Given the description of an element on the screen output the (x, y) to click on. 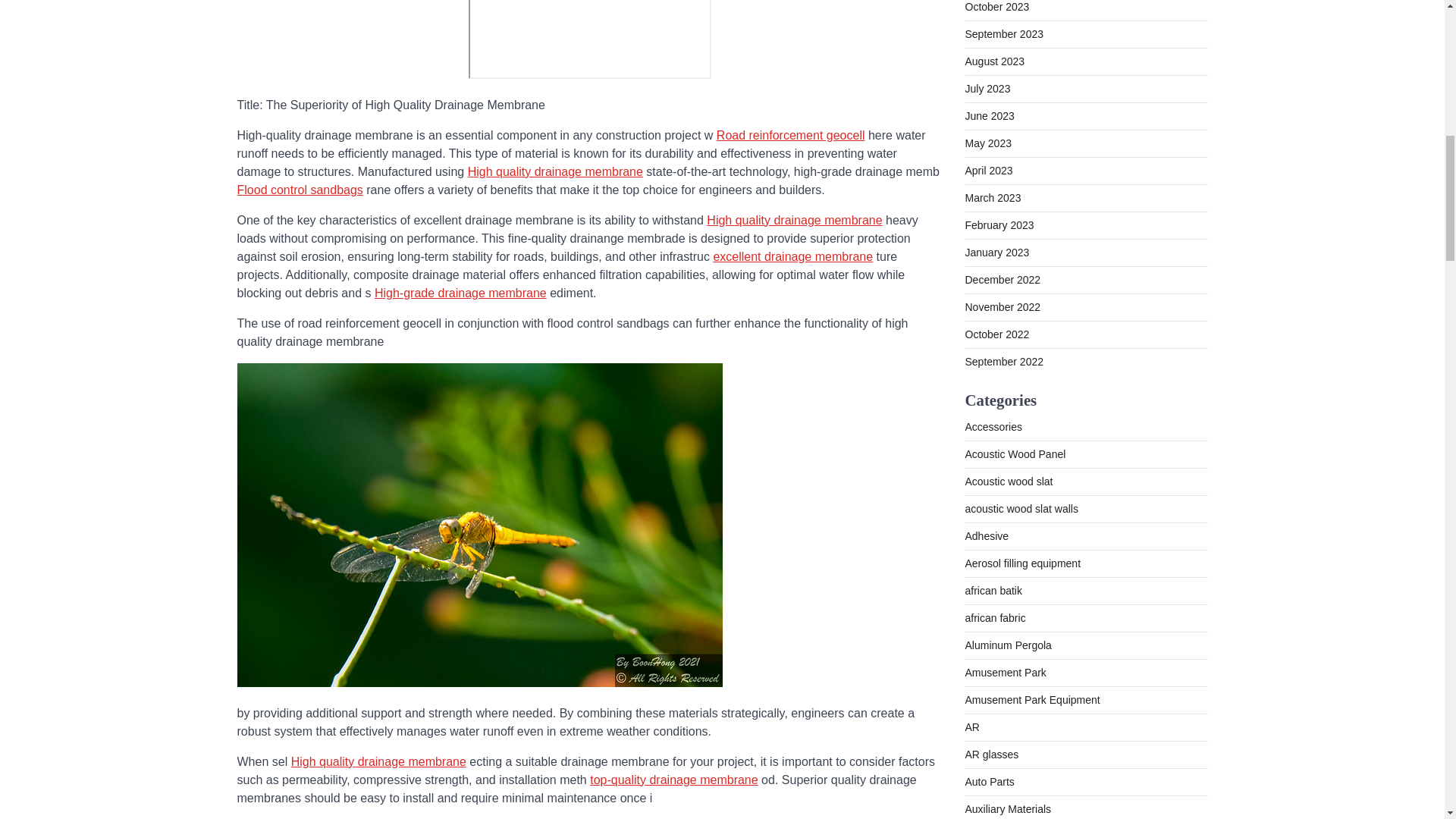
High-grade drainage membrane (460, 292)
Flood control sandbags (298, 189)
top-quality drainage membrane (673, 779)
Road reinforcement geocell (790, 134)
High quality drainage membrane (555, 171)
October 2023 (996, 6)
August 2023 (994, 61)
July 2023 (986, 88)
excellent drainage membrane (792, 256)
September 2023 (1003, 33)
